Given the description of an element on the screen output the (x, y) to click on. 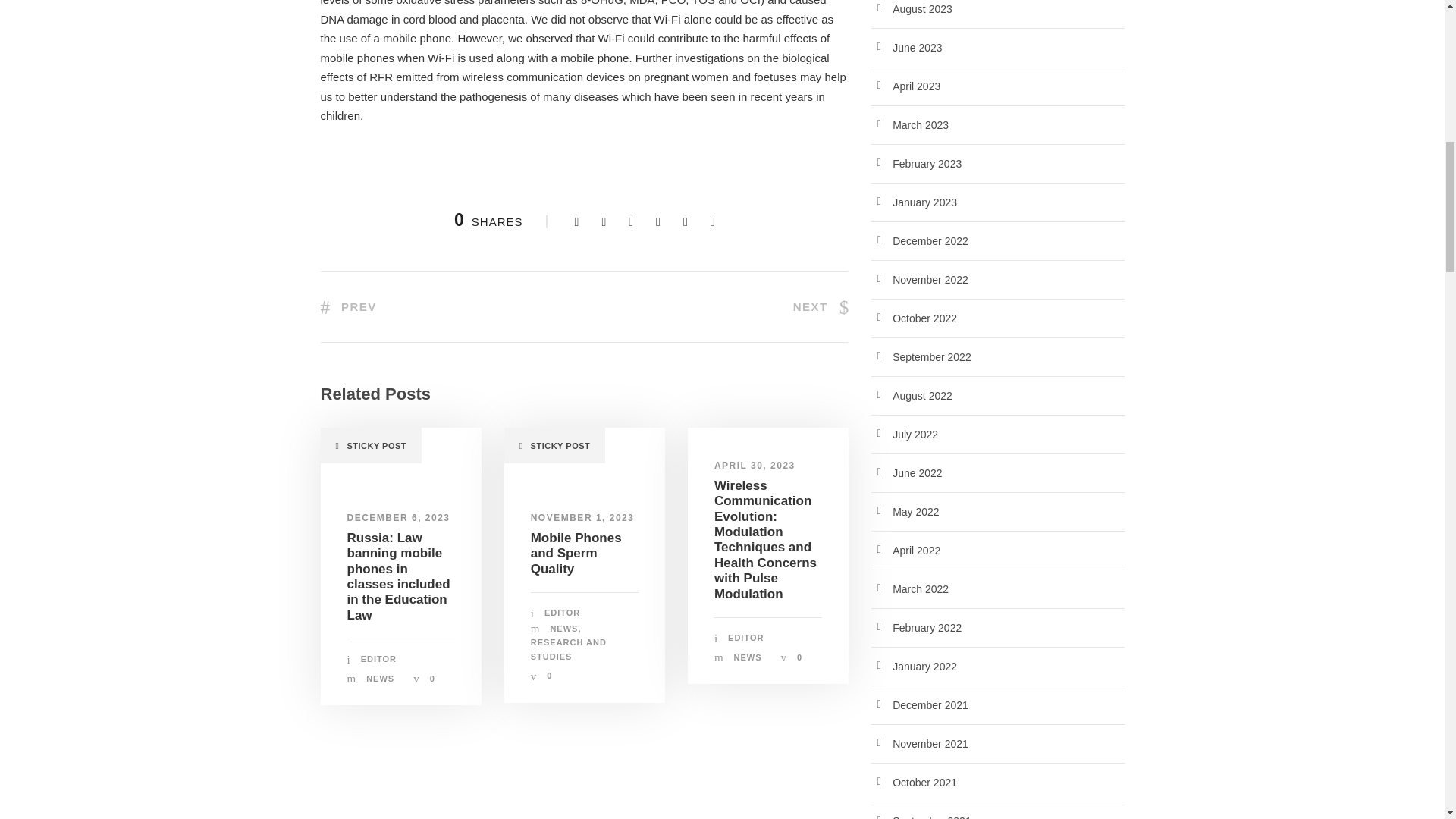
Posts by Editor (745, 637)
Posts by Editor (378, 658)
Posts by Editor (561, 612)
